Given the description of an element on the screen output the (x, y) to click on. 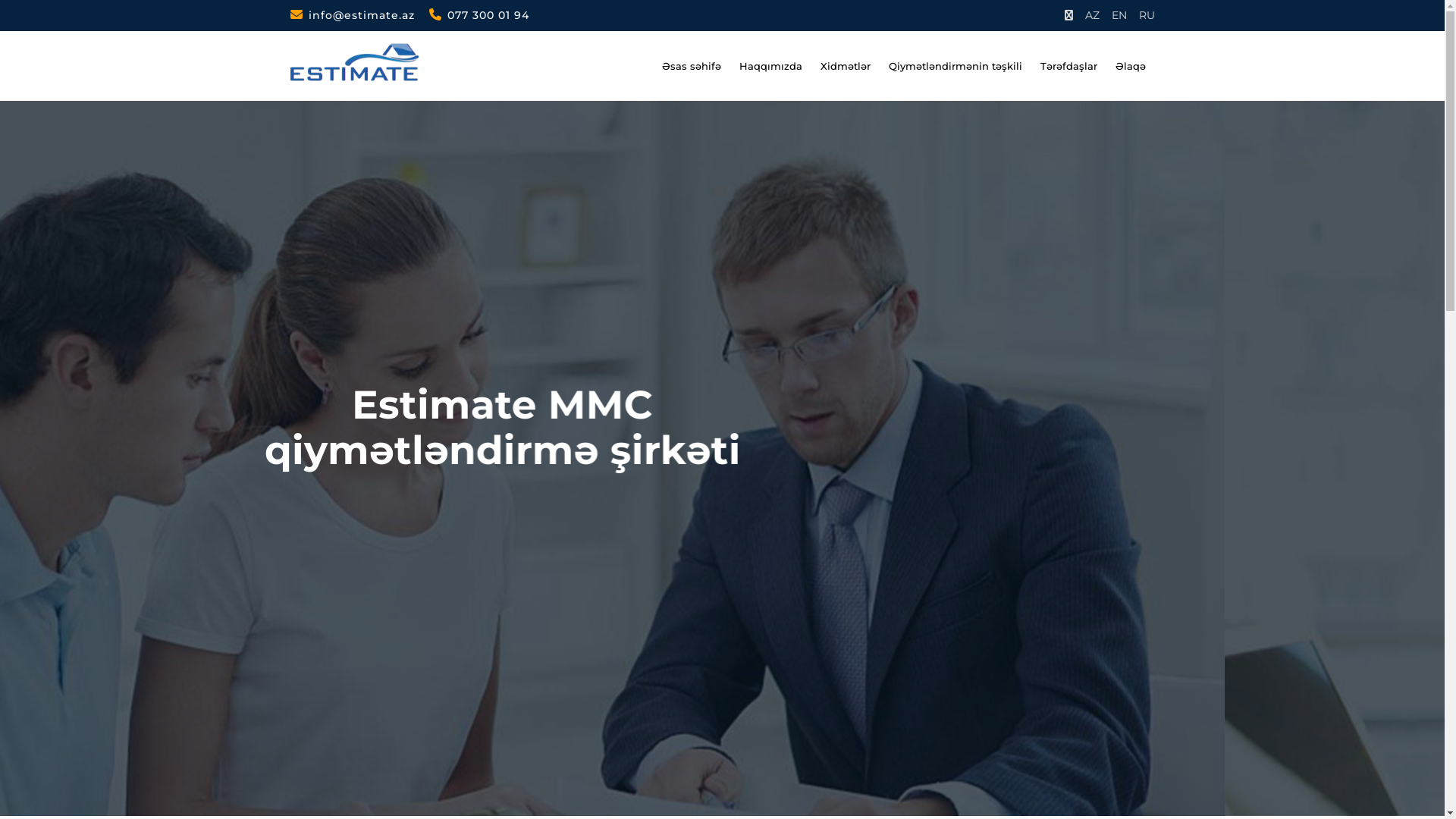
RU Element type: text (1146, 15)
EN Element type: text (1118, 15)
077 300 01 94 Element type: text (479, 15)
info@estimate.az Element type: text (351, 15)
AZ Element type: text (1091, 15)
